Given the description of an element on the screen output the (x, y) to click on. 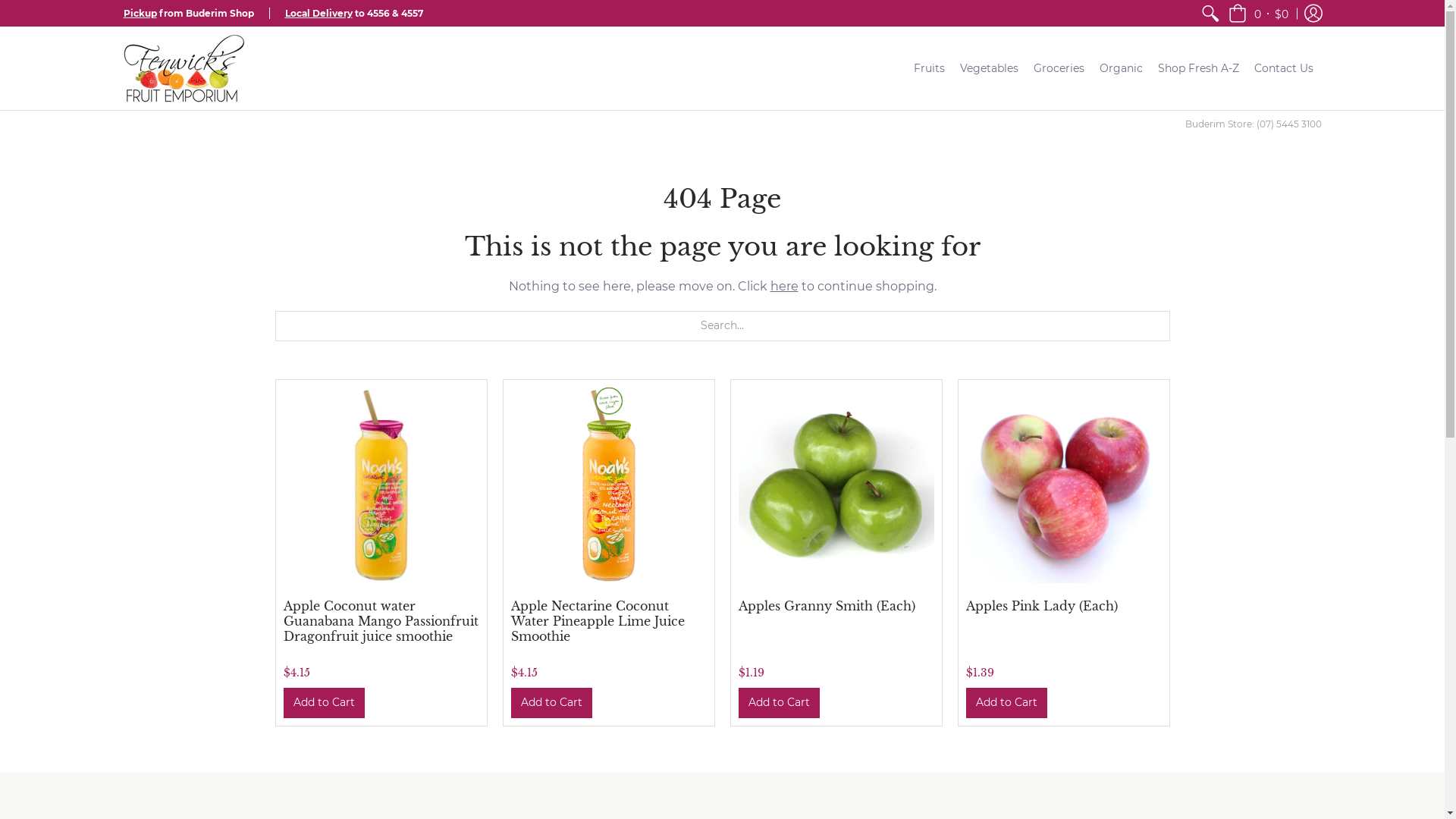
Add to Cart Element type: text (1006, 702)
Buderim Store: (07) 5445 3100 Element type: text (1252, 123)
Contact Us Element type: text (1283, 67)
Pickup Element type: text (139, 12)
Groceries Element type: text (1059, 67)
Apples Granny Smith (Each) Element type: text (826, 605)
Buy Apples Granny Smith (Each) Element type: hover (836, 485)
Search Element type: hover (1209, 13)
Fenwick's Fruit Emporium Element type: hover (183, 67)
Add to Cart Element type: text (551, 702)
Apples Pink Lady (Each) Element type: text (1041, 605)
Fruits Element type: text (929, 67)
Local Delivery Element type: text (318, 12)
Add to Cart Element type: text (323, 702)
Shop Fresh A-Z Element type: text (1198, 67)
Vegetables Element type: text (989, 67)
Apple Nectarine Coconut Water Pineapple Lime Juice Smoothie Element type: text (597, 620)
Log in Element type: hover (1312, 13)
Buy Apples Pink Lady (Each) Element type: hover (1063, 485)
Add to Cart Element type: text (778, 702)
here Element type: text (784, 286)
Organic Element type: text (1121, 67)
